Given the description of an element on the screen output the (x, y) to click on. 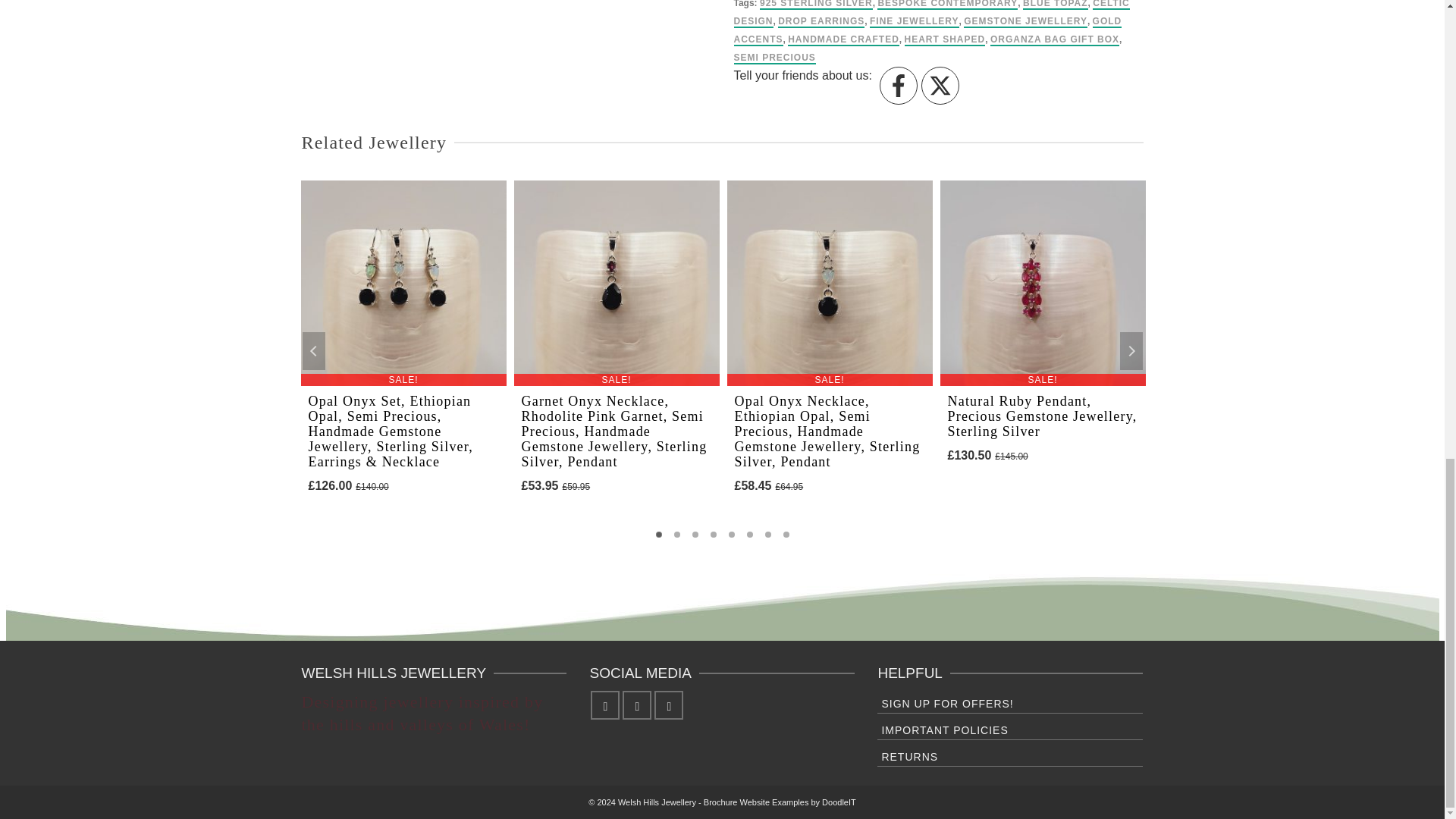
Examples of brochure websites by DoodleIT (779, 801)
